Given the description of an element on the screen output the (x, y) to click on. 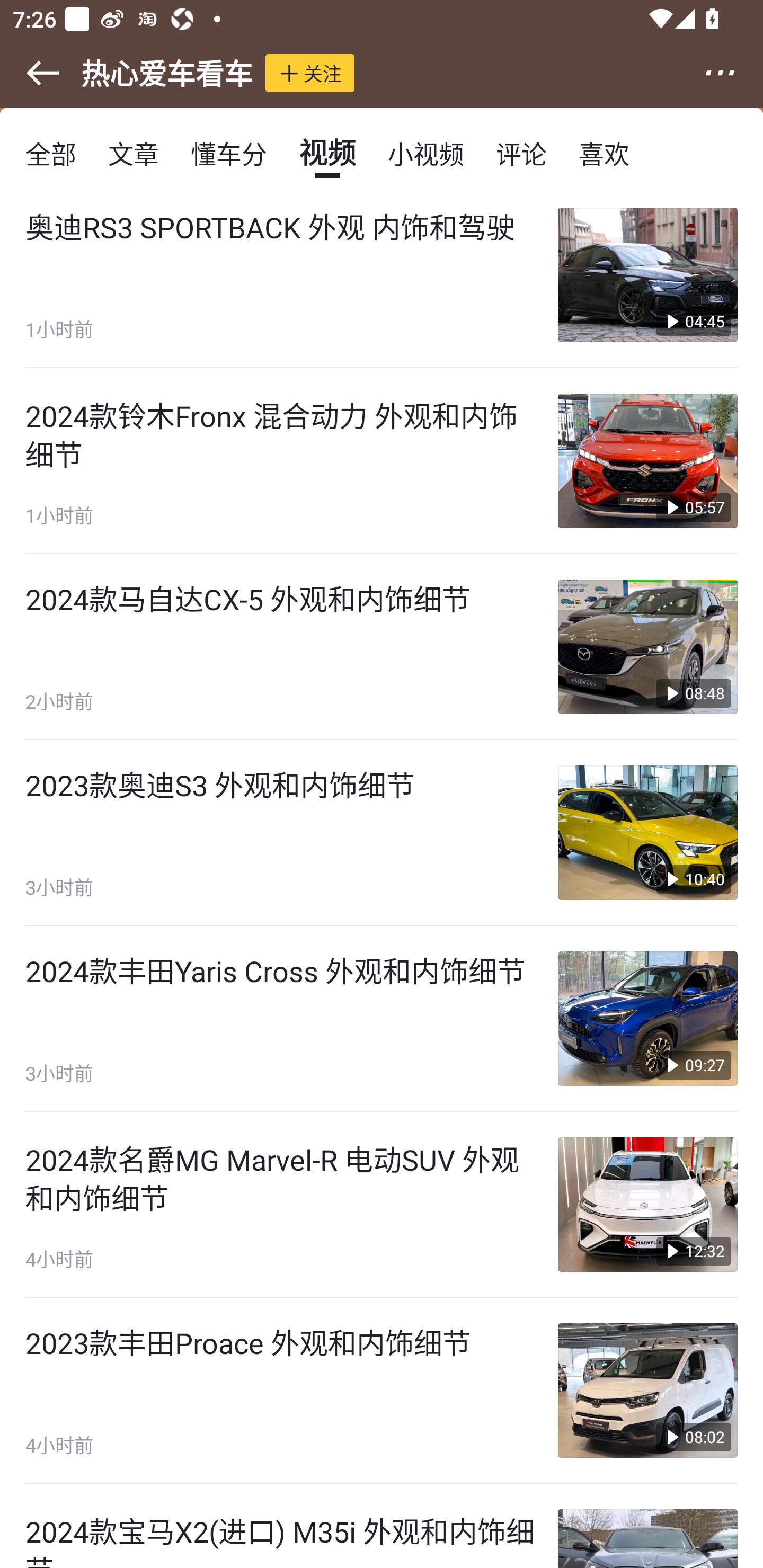
 (30, 72)
 (732, 72)
 关注 (309, 72)
全部 (50, 152)
文章 (133, 152)
懂车分 (228, 152)
视频 (327, 152)
小视频 (425, 152)
评论 (521, 152)
喜欢 (603, 152)
奥迪RS3 SPORTBACK 外观 内饰和驾驶 1小时前  04:45 (381, 276)
2024款铃木Fronx 混合动力 外观和内饰细节 1小时前  05:57 (381, 460)
2024款马自达CX-5 外观和内饰细节 2小时前  08:48 (381, 646)
2023款奥迪S3 外观和内饰细节 3小时前  10:40 (381, 833)
2024款丰田Yaris Cross 外观和内饰细节 3小时前  09:27 (381, 1018)
2024款名爵MG Marvel-R 电动SUV 外观和内饰细节 4小时前  12:32 (381, 1204)
2023款丰田Proace 外观和内饰细节 4小时前  08:02 (381, 1390)
